Given the description of an element on the screen output the (x, y) to click on. 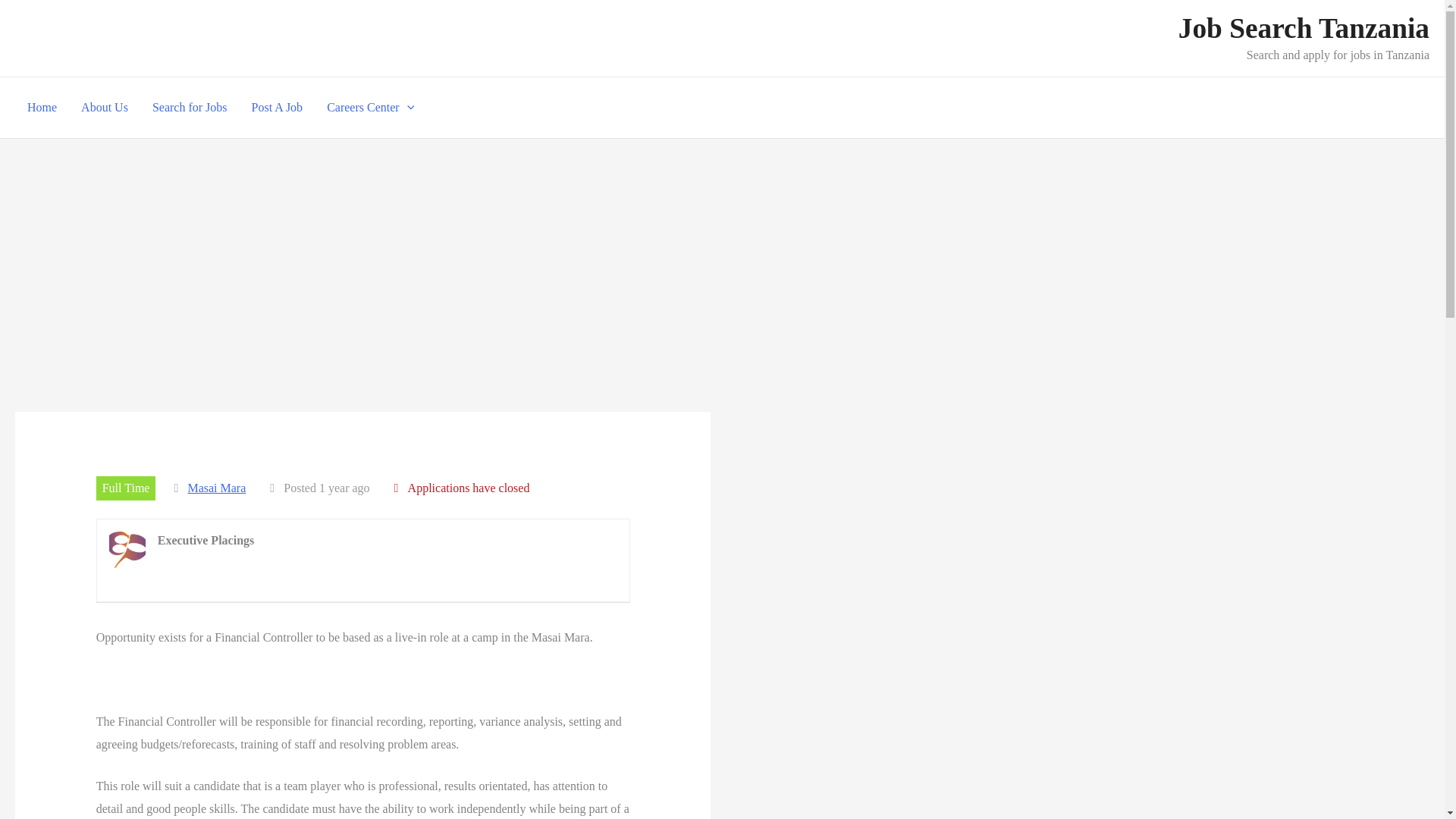
Post A Job (277, 107)
Search for Jobs (189, 107)
About Us (103, 107)
Job Search Tanzania (1303, 28)
Masai Mara (216, 487)
Careers Center (370, 107)
